Given the description of an element on the screen output the (x, y) to click on. 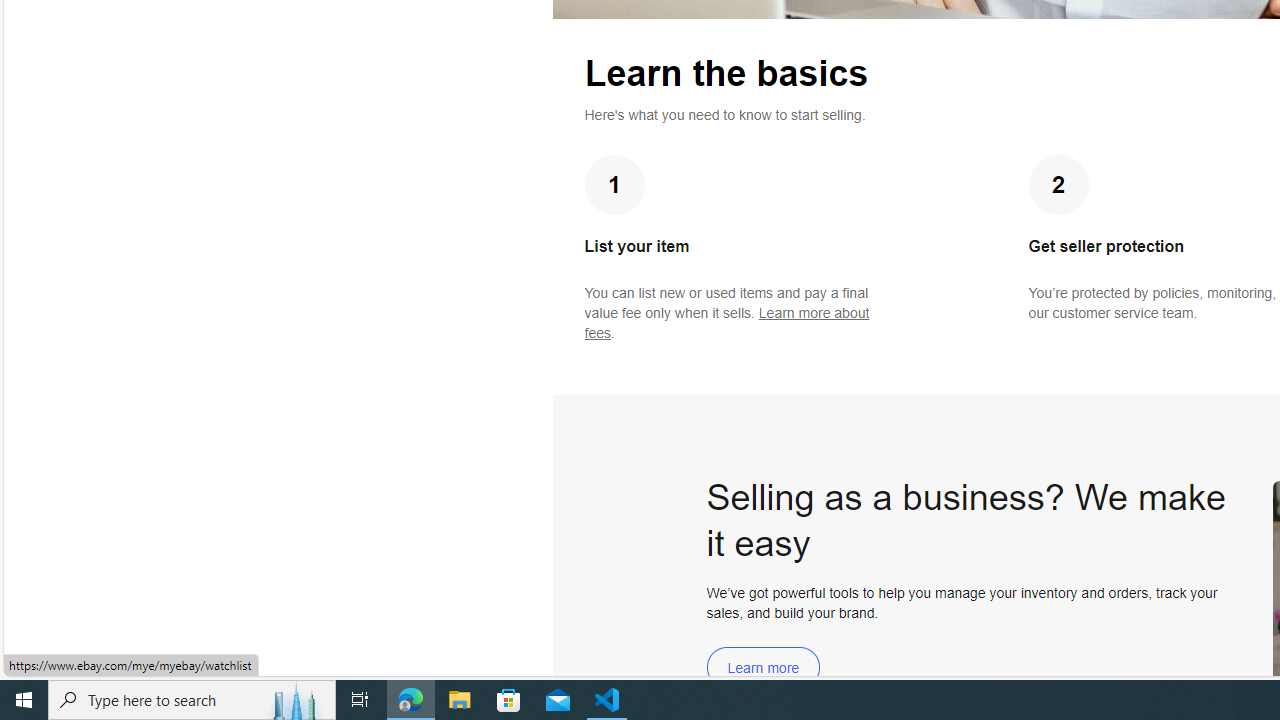
Learn more (763, 667)
Learn more about fees - opens in new window or tab. (726, 323)
